Given the description of an element on the screen output the (x, y) to click on. 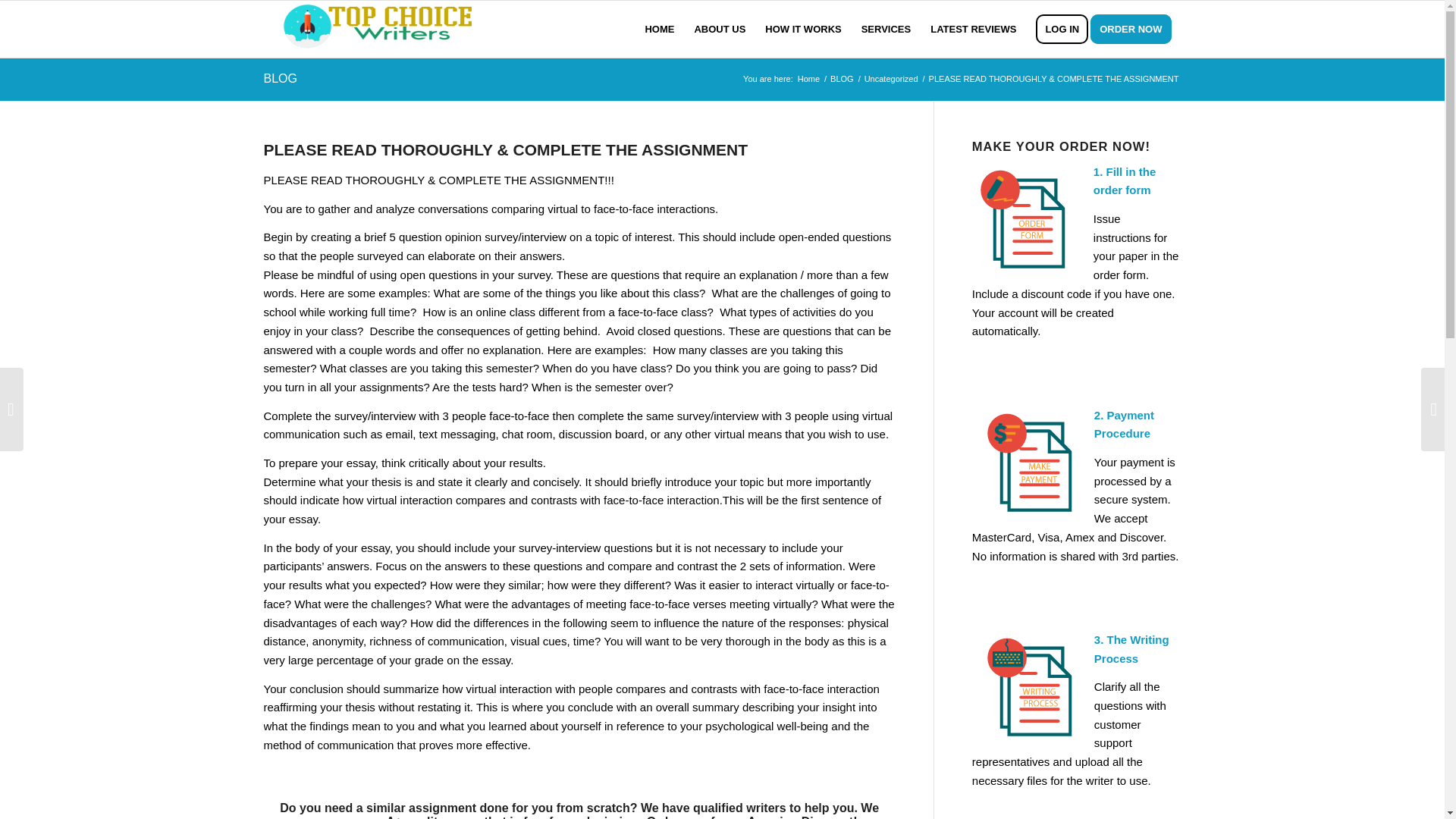
Home (808, 79)
Uncategorized (890, 79)
BLOG (280, 78)
Permanent Link: BLOG (280, 78)
ORDER NOW (1135, 28)
LATEST REVIEWS (973, 28)
BLOG (842, 79)
ABOUT US (719, 28)
topchoicewriters.com (808, 79)
SERVICES (886, 28)
HOW IT WORKS (802, 28)
BLOG (842, 79)
LOG IN (1061, 28)
